Given the description of an element on the screen output the (x, y) to click on. 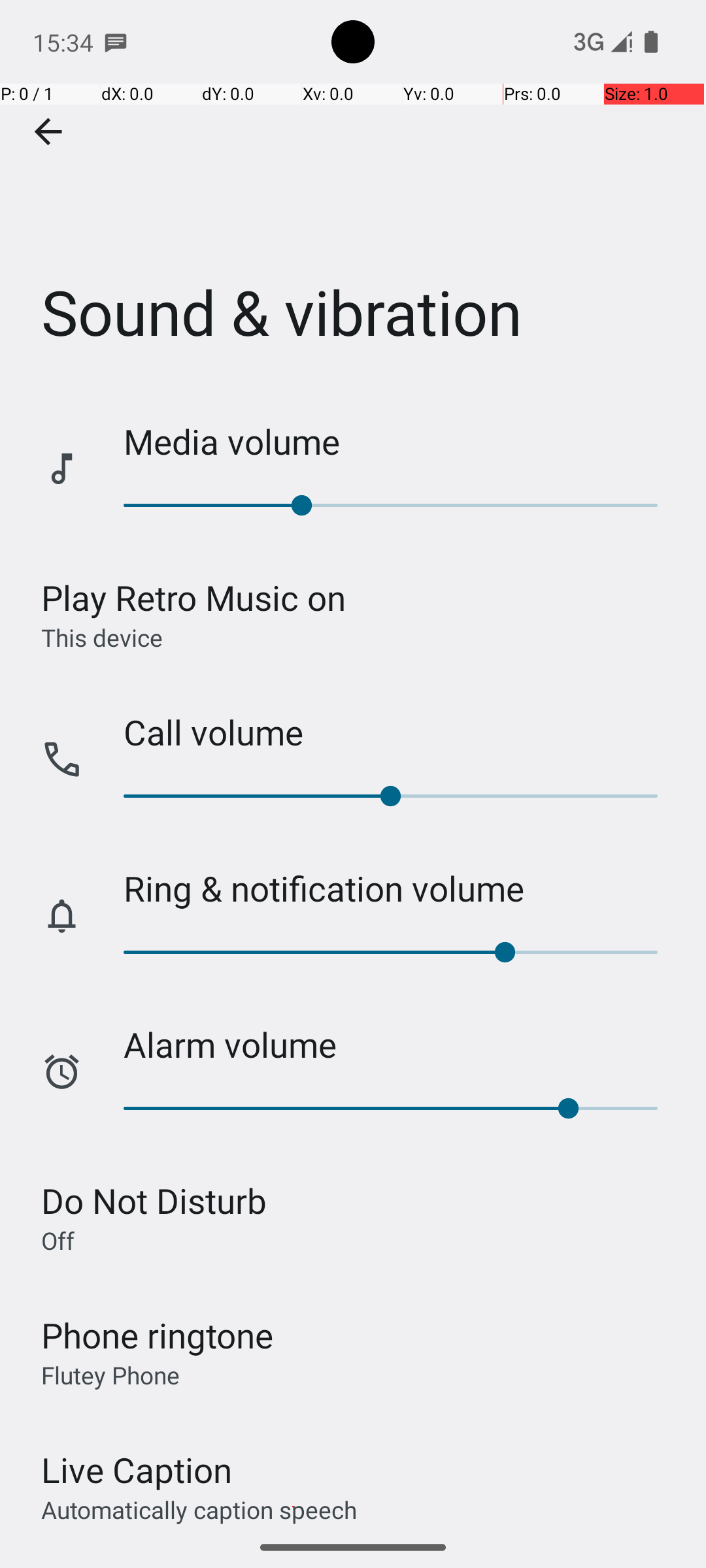
Media volume Element type: android.widget.TextView (400, 441)
Play Retro Music on Element type: android.widget.TextView (193, 597)
This device Element type: android.widget.TextView (101, 636)
Call volume Element type: android.widget.TextView (400, 731)
Ring & notification volume Element type: android.widget.TextView (400, 888)
Alarm volume Element type: android.widget.TextView (400, 1044)
Do Not Disturb Element type: android.widget.TextView (153, 1200)
Phone ringtone Element type: android.widget.TextView (157, 1334)
Flutey Phone Element type: android.widget.TextView (110, 1374)
Live Caption Element type: android.widget.TextView (136, 1469)
Automatically caption speech Element type: android.widget.TextView (199, 1509)
